Given the description of an element on the screen output the (x, y) to click on. 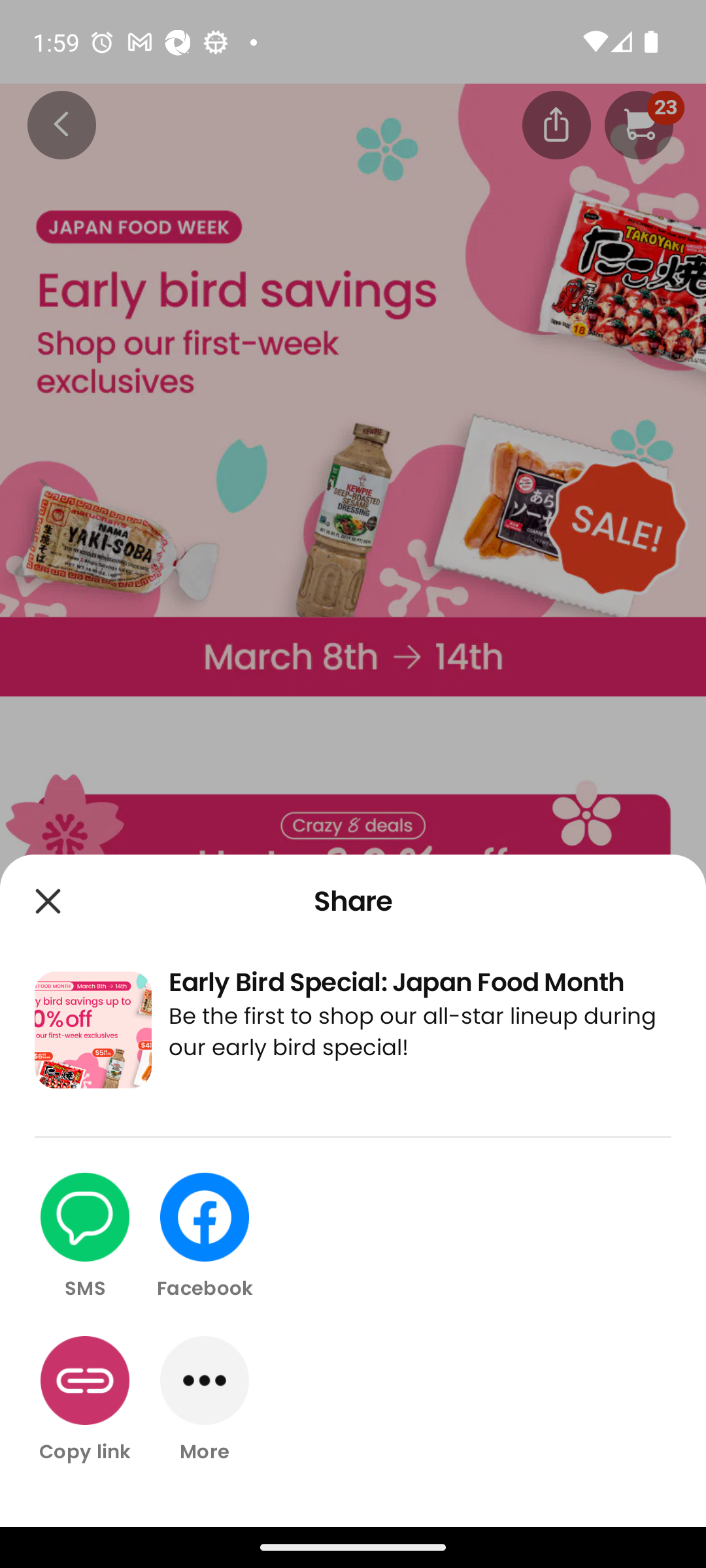
SMS (85, 1236)
Facebook (204, 1236)
Copy link (85, 1399)
More (204, 1399)
